Given the description of an element on the screen output the (x, y) to click on. 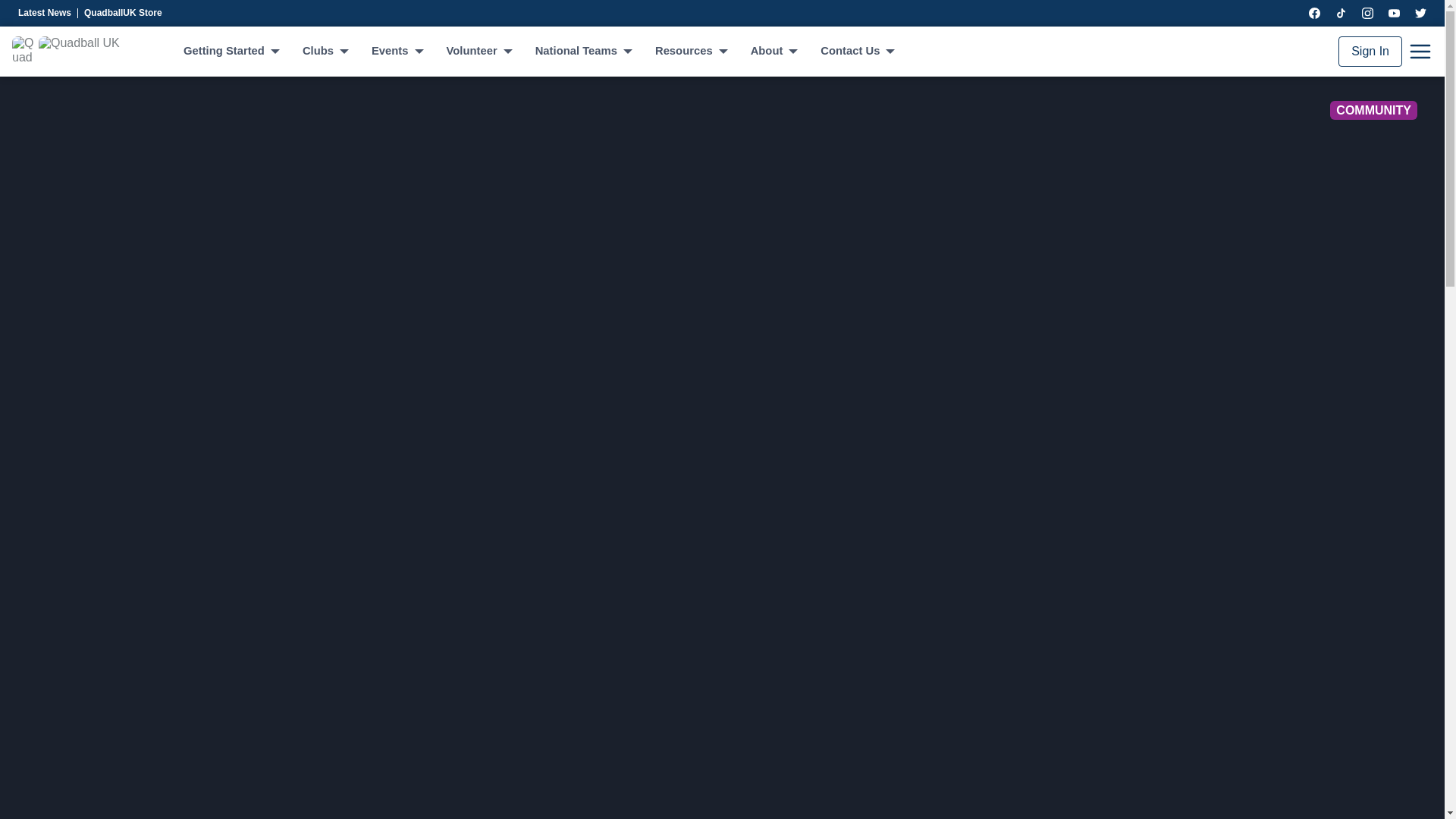
Latest News (47, 13)
About (773, 51)
Resources (690, 51)
National Teams (582, 51)
Volunteer (478, 51)
QuadballUK Store (126, 13)
Getting Started (230, 51)
Clubs (324, 51)
Events (396, 51)
